Given the description of an element on the screen output the (x, y) to click on. 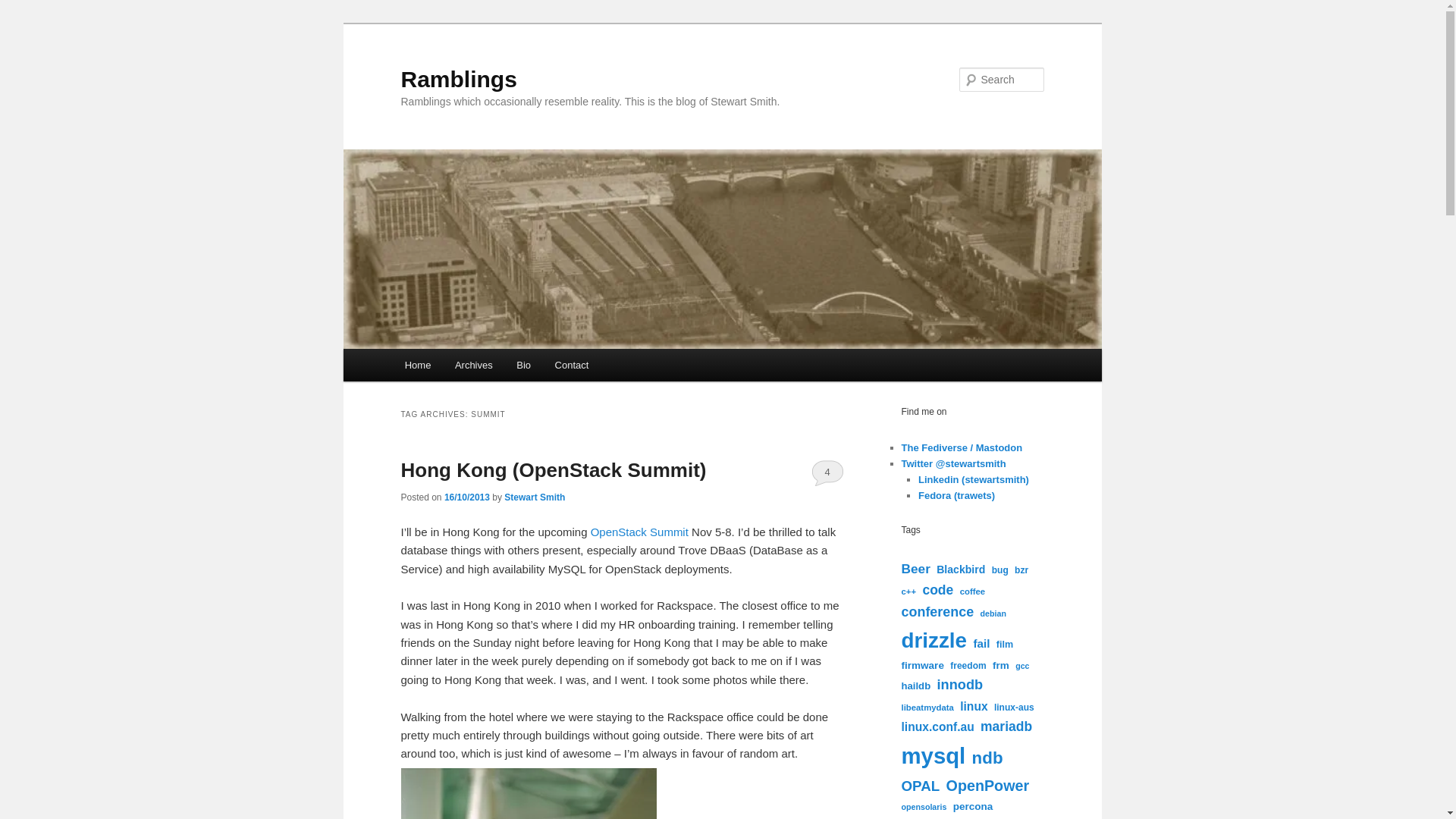
Home (417, 364)
2:57 pm (466, 497)
Archives (472, 364)
4 (827, 472)
Search (24, 8)
Stewart Smith (533, 497)
OpenStack Summit (639, 531)
View all posts by Stewart Smith (533, 497)
Contact (571, 364)
Bio (522, 364)
Ramblings (458, 78)
